Given the description of an element on the screen output the (x, y) to click on. 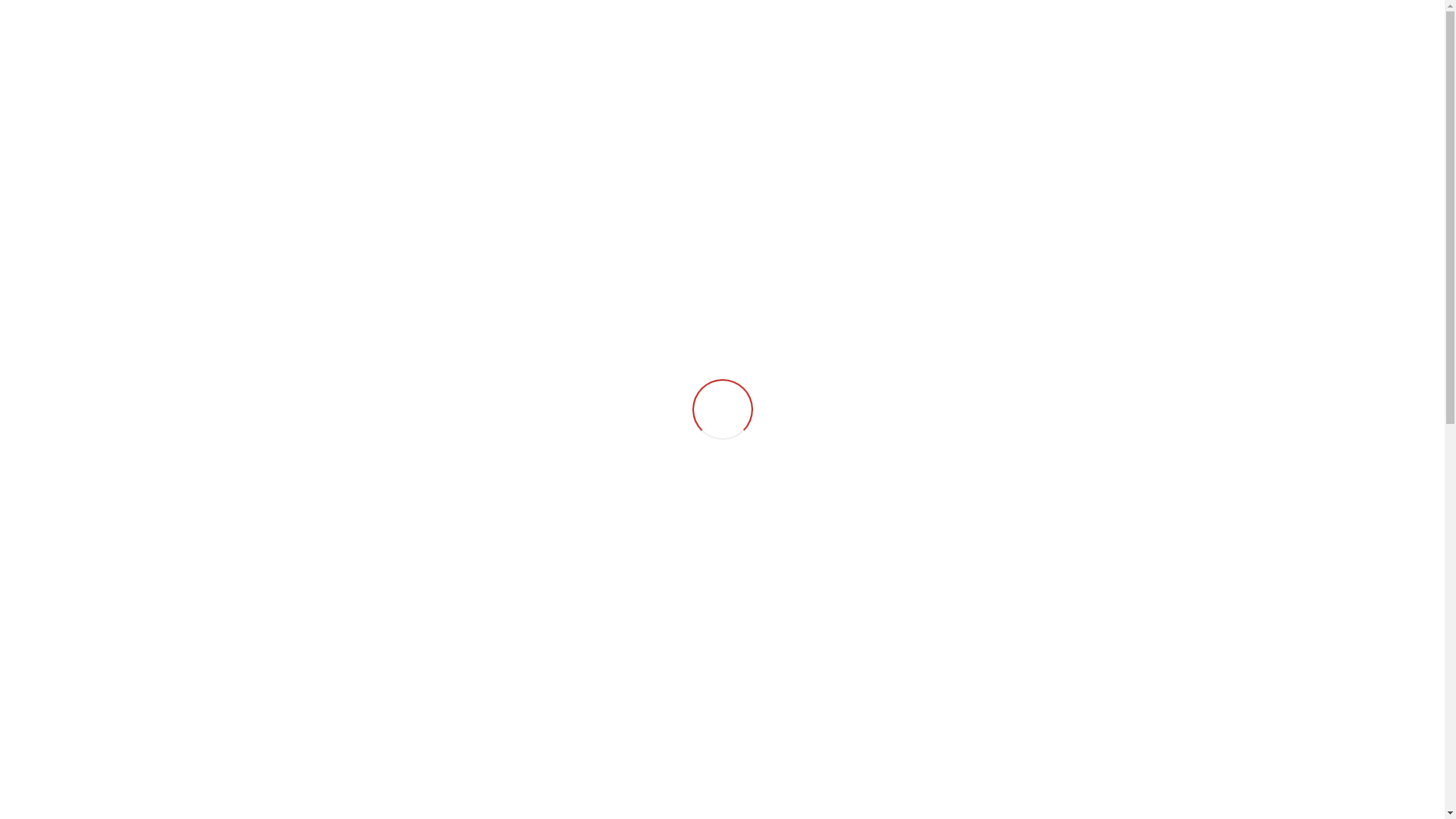
KONTAKT Element type: text (1126, 65)
11 BEHAUPTUNGEN Element type: text (931, 65)
HOME Element type: text (842, 65)
https://www.gigaherz.ch/5g-jetzt-mit-8000watt-erp/ Element type: text (934, 782)
INFO-SEITEN Element type: text (1040, 65)
